Given the description of an element on the screen output the (x, y) to click on. 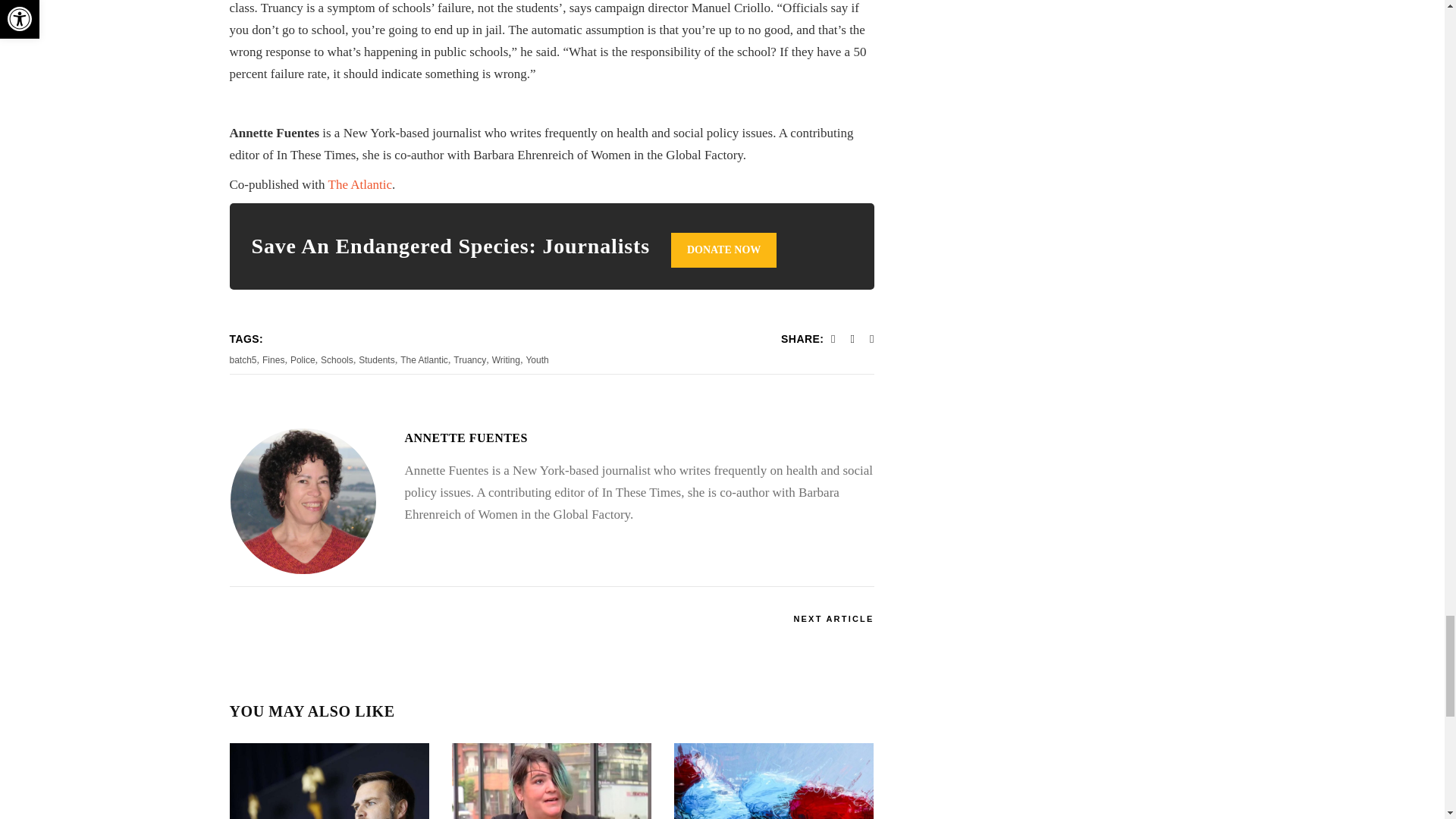
A Fighter for the Working Class (550, 780)
The Truancy Trap (465, 437)
The Truancy Trap (302, 501)
Permanent Crisis (773, 780)
